Given the description of an element on the screen output the (x, y) to click on. 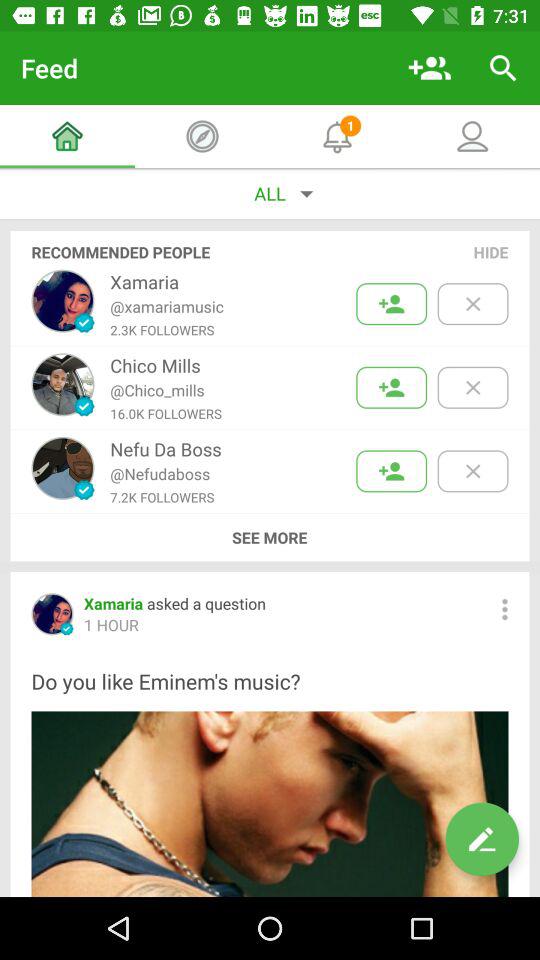
follow person (391, 303)
